Given the description of an element on the screen output the (x, y) to click on. 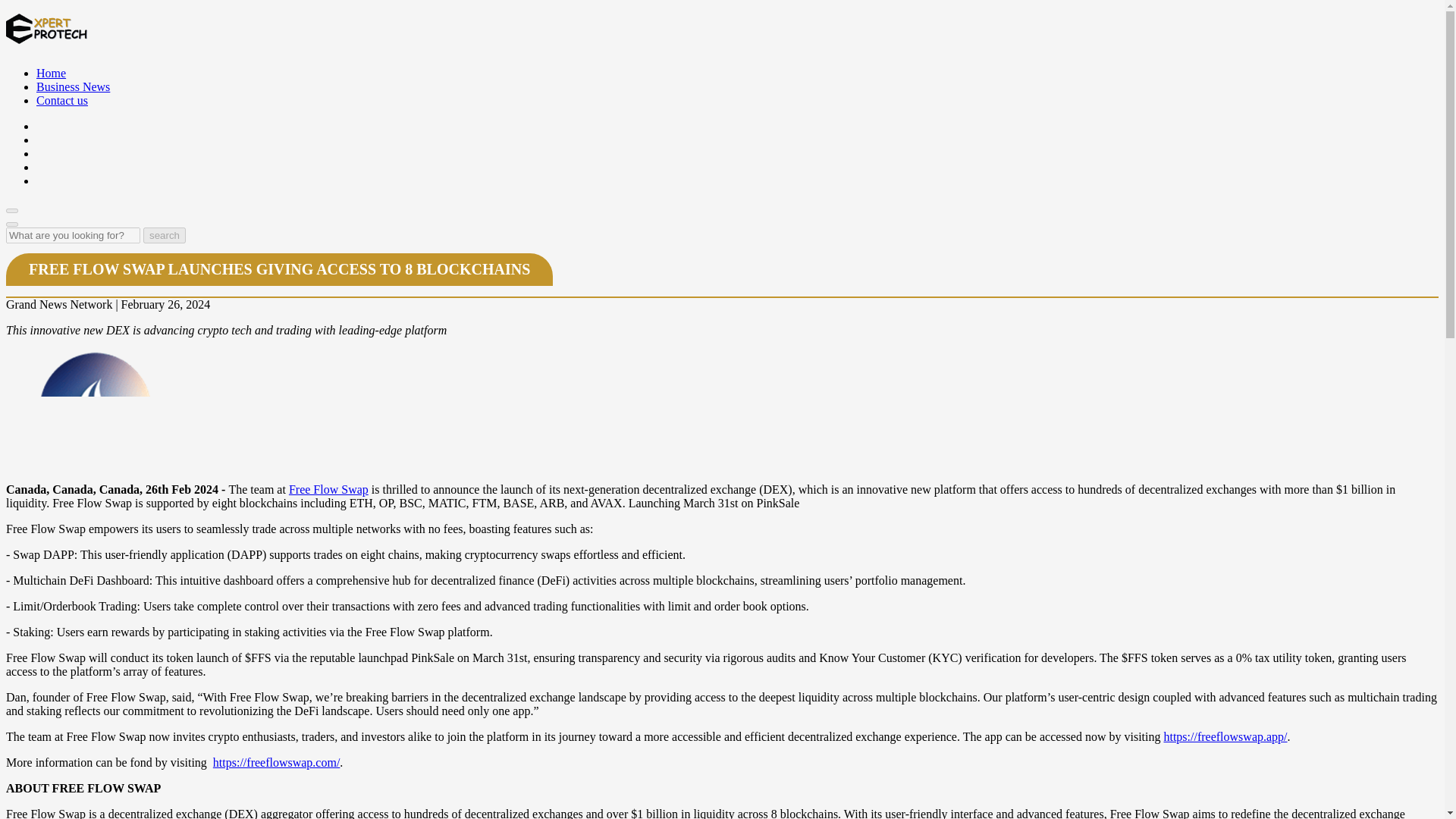
Business News (73, 86)
Contact us (61, 100)
Free Flow Swap (328, 489)
search (164, 235)
Home (50, 72)
